Given the description of an element on the screen output the (x, y) to click on. 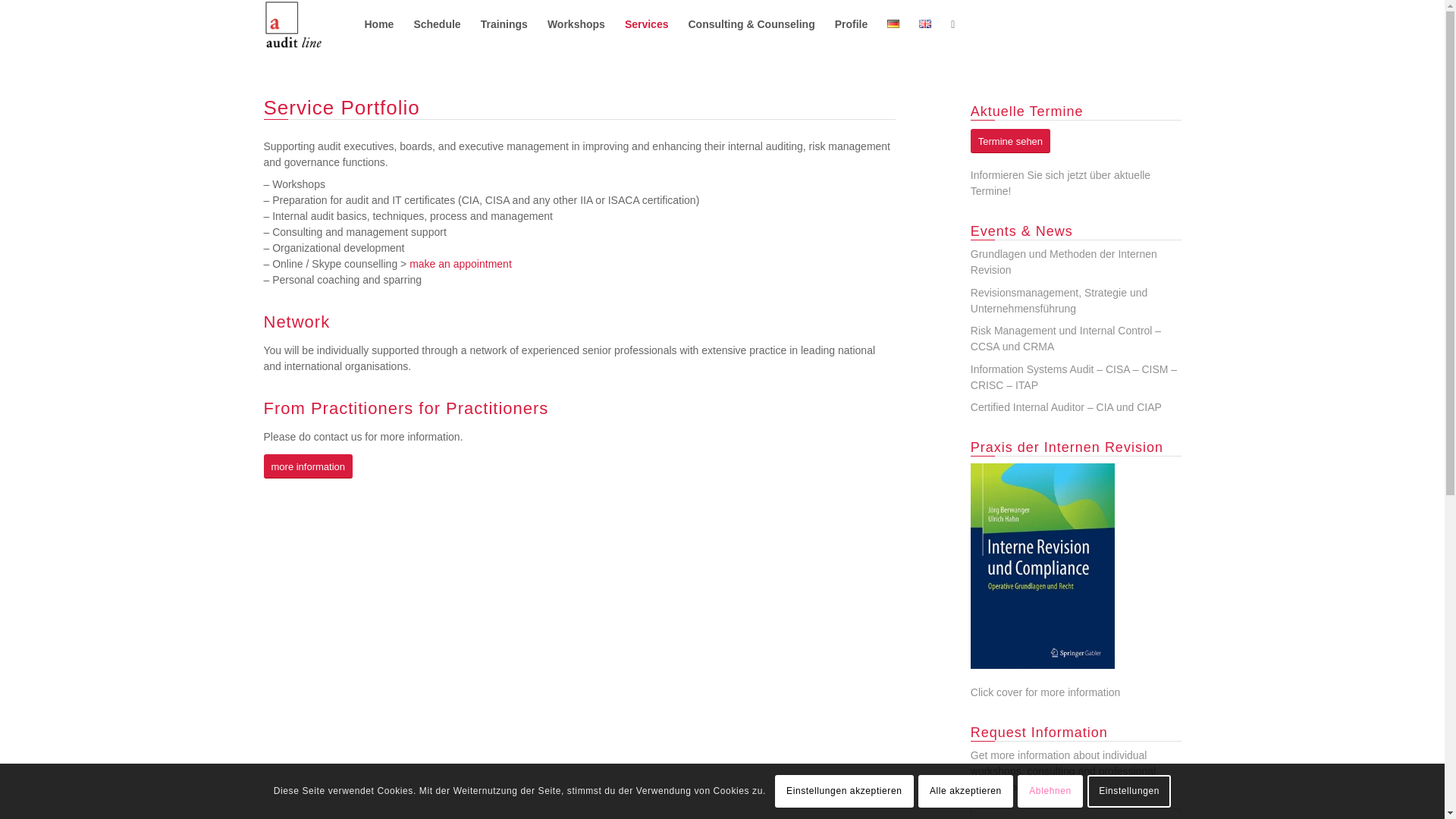
make an appointment (460, 263)
Workshops (575, 24)
Profile (851, 24)
Ablehnen (1050, 790)
Einstellungen akzeptieren (844, 790)
Termine sehen (1010, 140)
Schedule (436, 24)
Home (379, 24)
Services (646, 24)
Einstellungen (1128, 790)
Grundlagen und Methoden der Internen Revision (1064, 262)
Alle akzeptieren (965, 790)
more information (308, 466)
